Given the description of an element on the screen output the (x, y) to click on. 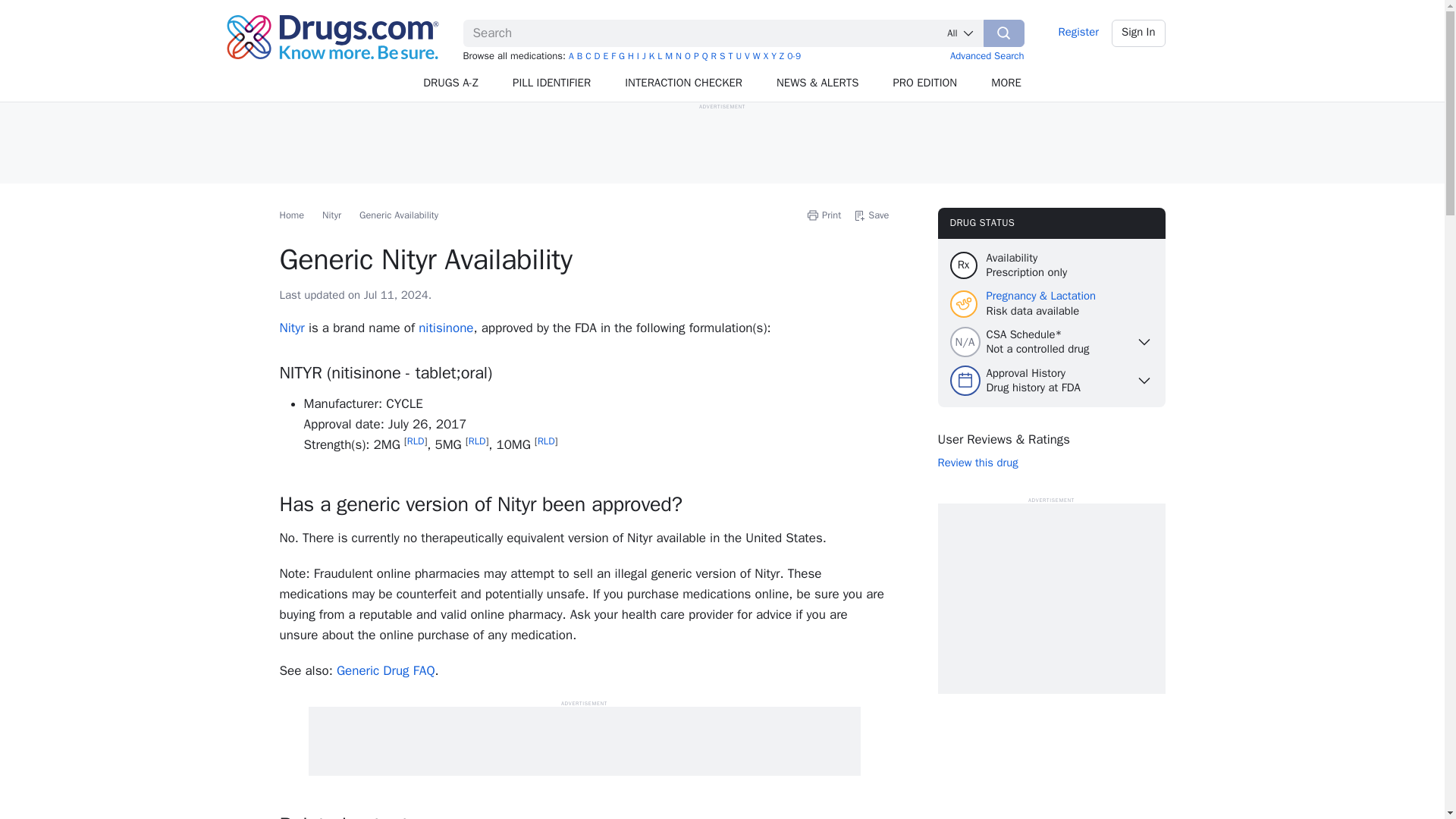
Register (1078, 32)
Advanced Search (987, 55)
Search (1004, 32)
PILL IDENTIFIER (551, 83)
DRUGS A-Z (450, 83)
0-9 (793, 55)
Sign In (1139, 32)
